Given the description of an element on the screen output the (x, y) to click on. 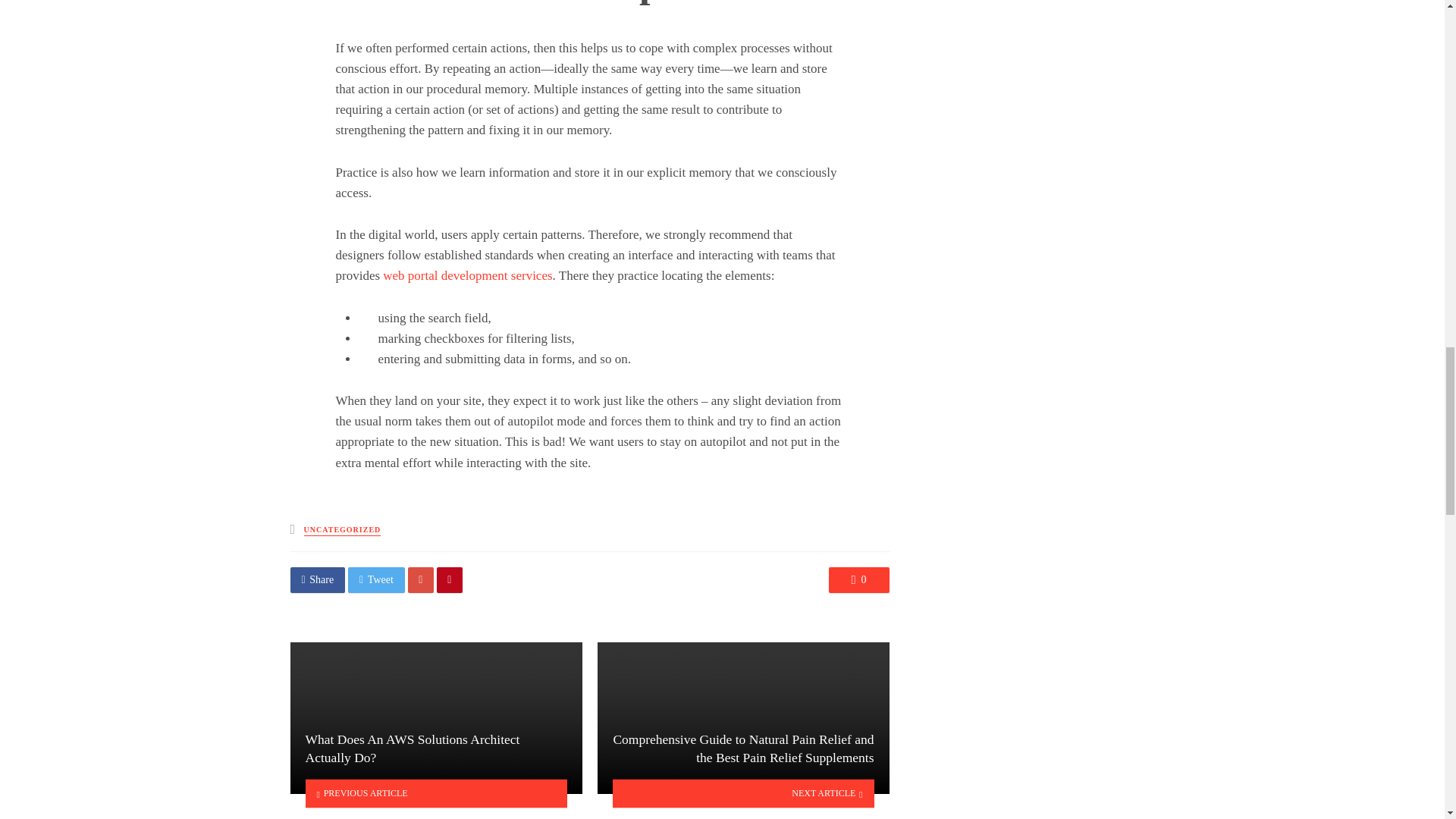
Tweet (375, 579)
0 (858, 579)
UNCATEGORIZED (342, 530)
web portal development services (466, 275)
Share (317, 579)
Share on Pinterest (449, 579)
Share on Twitter (375, 579)
0 Comments (858, 579)
PREVIOUS ARTICLE (434, 793)
NEXT ARTICLE (742, 793)
